Given the description of an element on the screen output the (x, y) to click on. 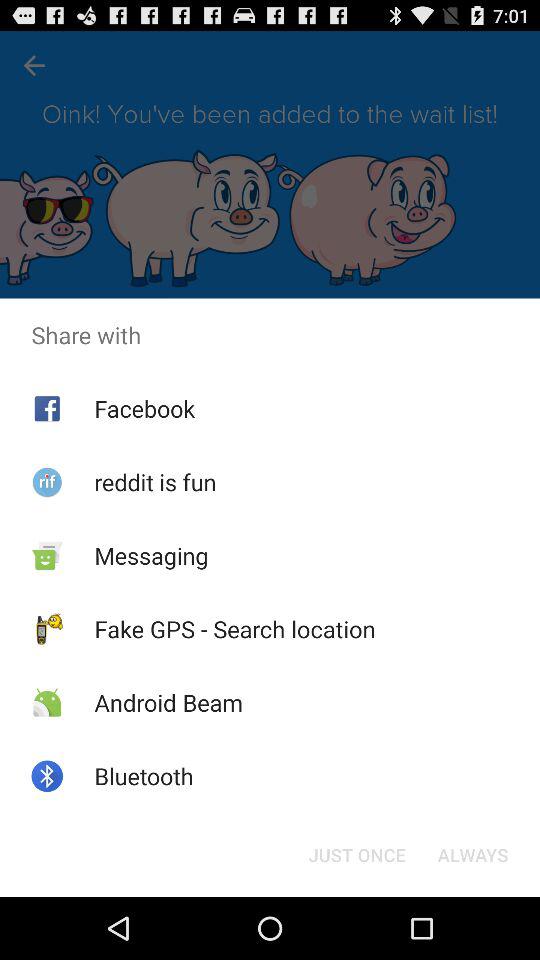
click the item next to the always (356, 854)
